Given the description of an element on the screen output the (x, y) to click on. 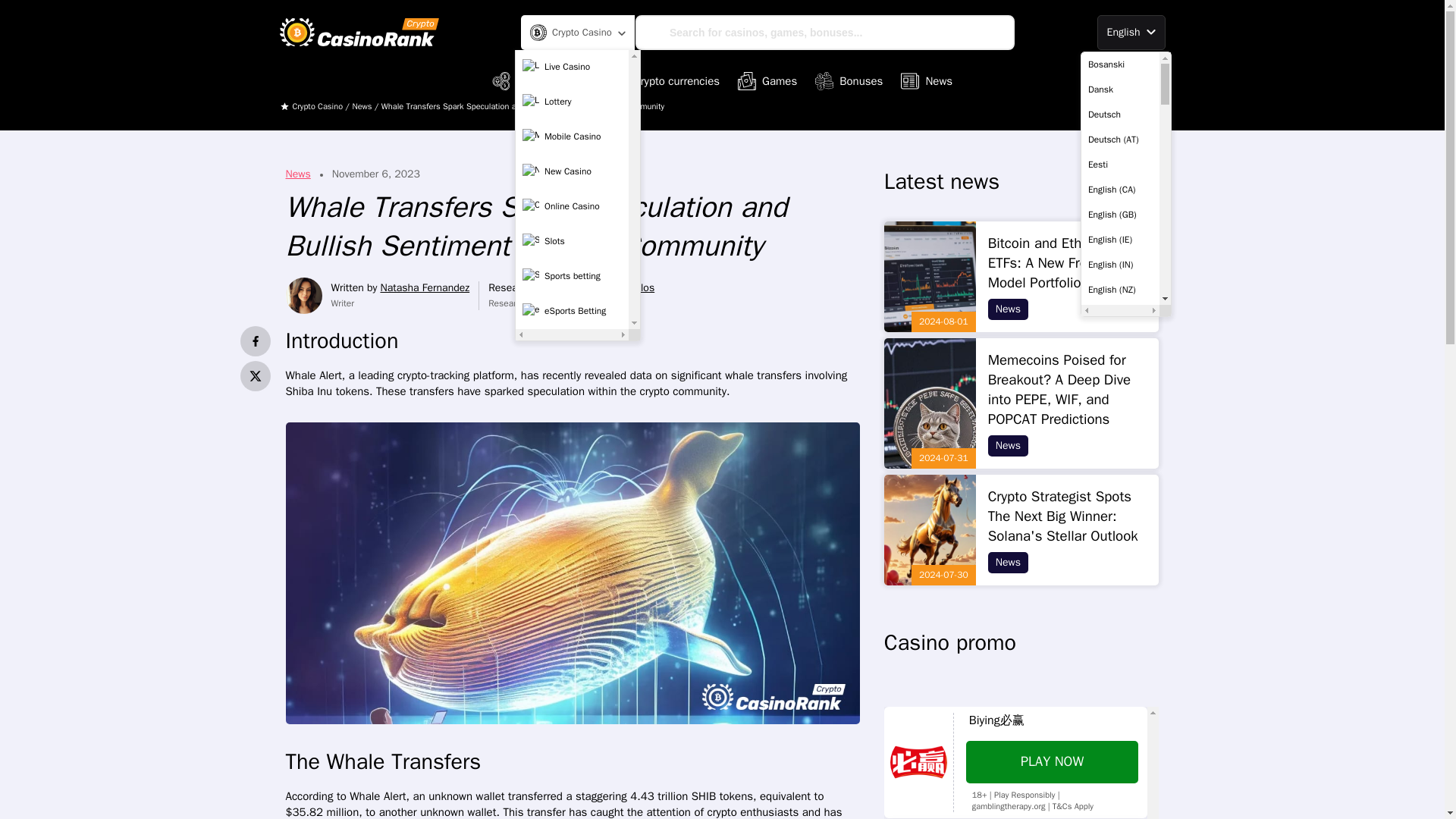
Mobile Casino (572, 136)
Italiano (1120, 714)
Eesti (1120, 163)
Hrvatski (1120, 664)
eSports Betting (572, 311)
Bosanski (1120, 63)
Dansk (1120, 89)
Sports betting (572, 276)
Indonesia (1120, 690)
New Casino (572, 172)
Magyar (1120, 790)
Slots (572, 241)
Lottery (572, 102)
Deutsch (1120, 113)
Online Casino (572, 206)
